Given the description of an element on the screen output the (x, y) to click on. 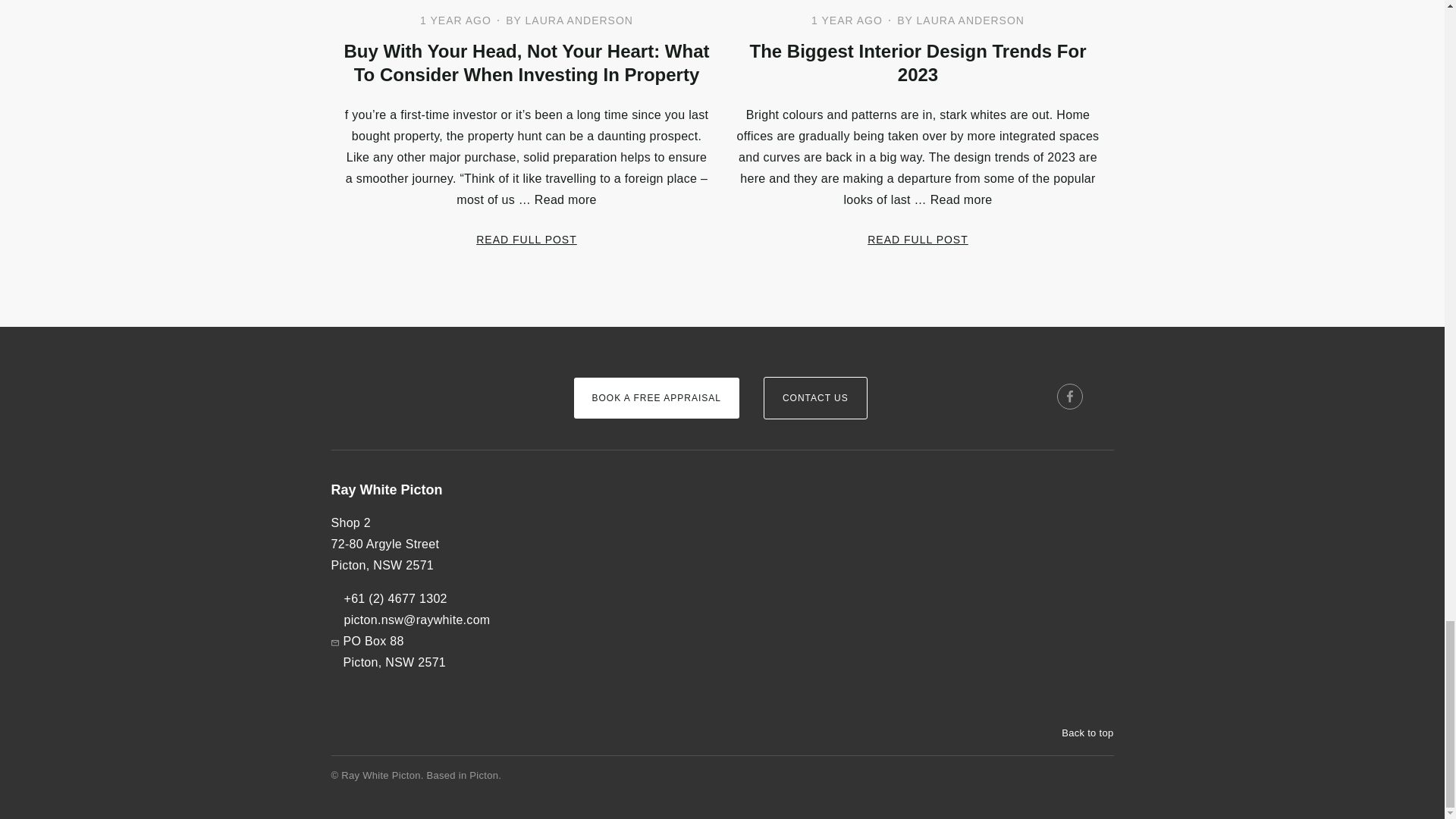
READ FULL POST (917, 238)
Ray White Picton (439, 490)
CONTACT US (814, 397)
Facebook (1070, 396)
The Biggest Interior Design Trends For 2023 (916, 62)
Ray White (376, 371)
READ FULL POST (526, 238)
BOOK A FREE APPRAISAL (655, 397)
Back to top (1079, 733)
